Given the description of an element on the screen output the (x, y) to click on. 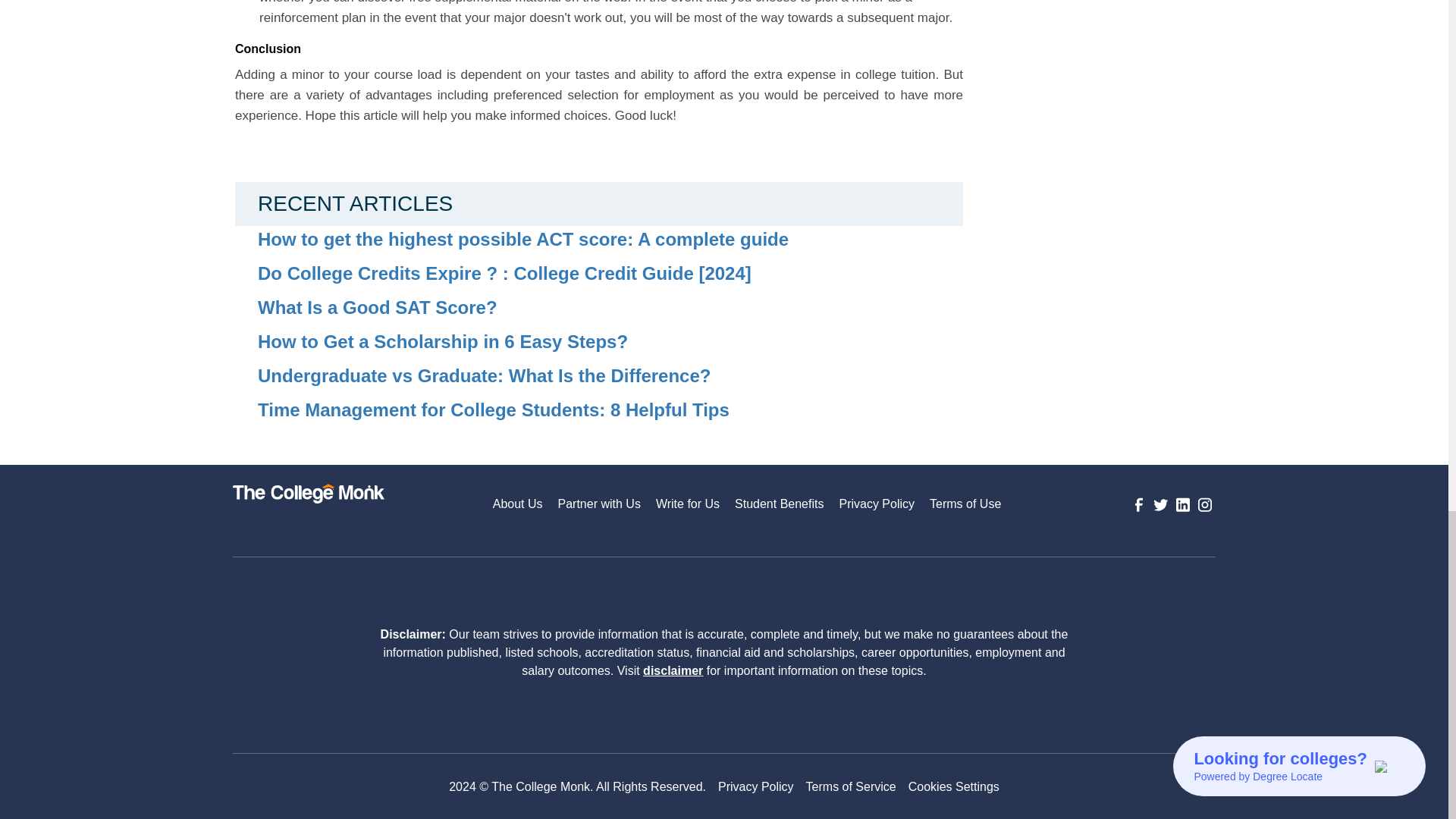
How to Get a Scholarship in 6 Easy Steps? (609, 341)
What Is a Good SAT Score? (609, 308)
How to get the highest possible ACT score: A complete guide (609, 239)
Undergraduate vs Graduate: What Is the Difference? (609, 376)
Time Management for College Students: 8 Helpful Tips (609, 410)
